Given the description of an element on the screen output the (x, y) to click on. 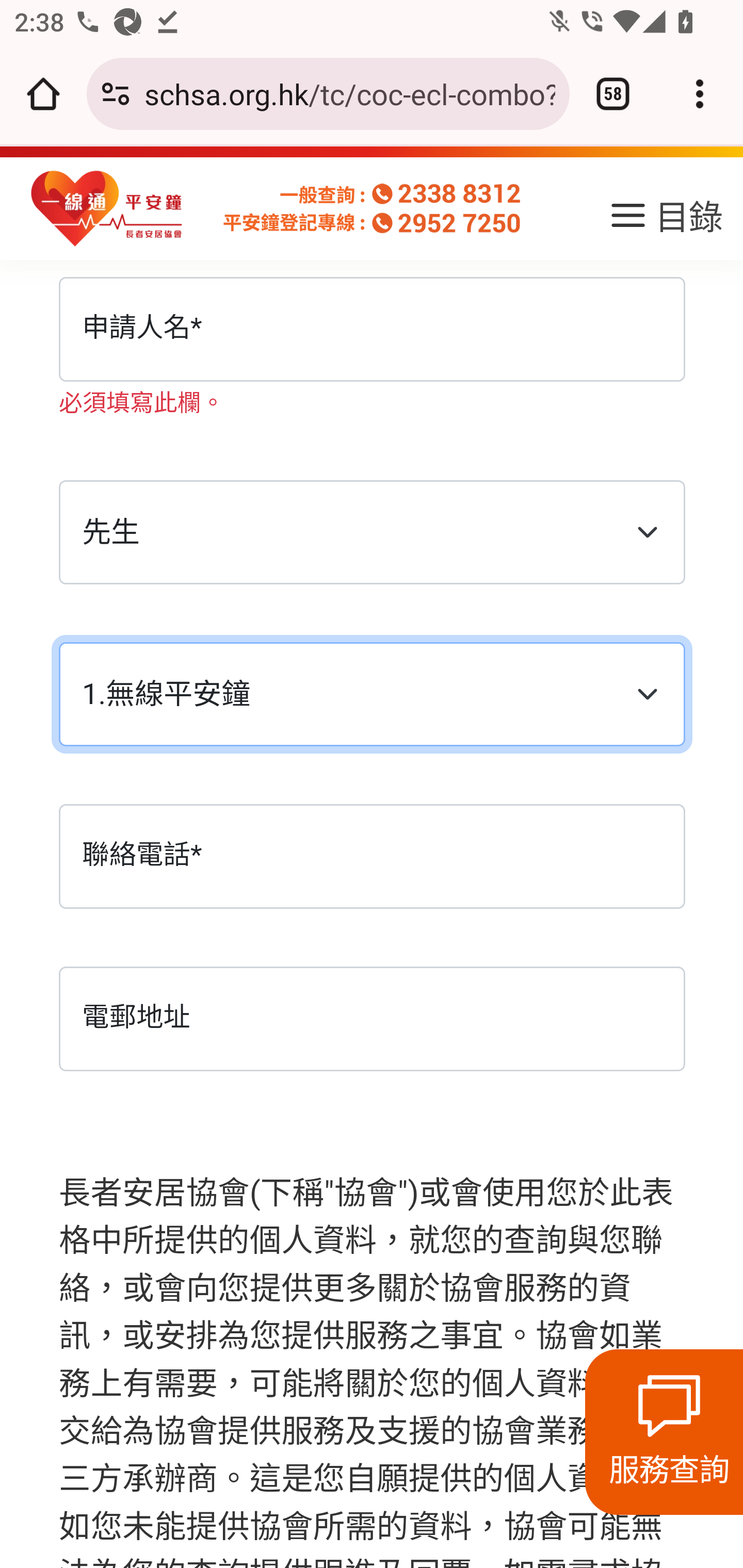
Open the home page (43, 93)
Connection is secure (115, 93)
Switch or close tabs (612, 93)
Customize and control Google Chrome (699, 93)
homepage (107, 209)
先生 (371, 532)
1.無線平安鐘 (371, 695)
